Given the description of an element on the screen output the (x, y) to click on. 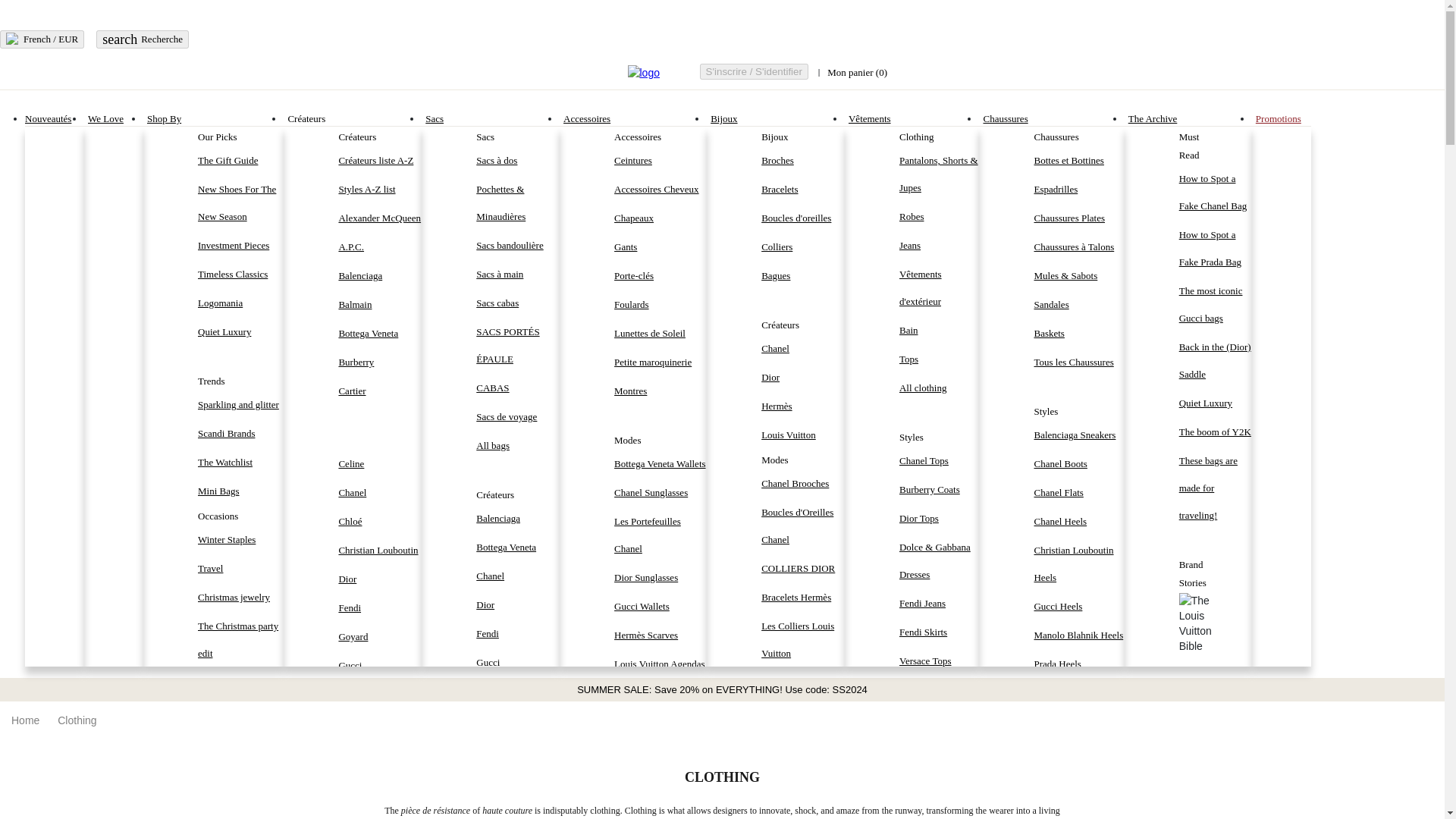
Christmas jewelry (240, 596)
Timeless Classics (240, 274)
Travel (240, 568)
We Love (105, 118)
The Gift Guide (240, 160)
Styles A-Z list (379, 189)
Sparkling and glitter (240, 404)
Burberry (379, 361)
A.P.C. (379, 247)
New Shoes For The New Season (240, 203)
Winter Staples (240, 539)
Investment Pieces (142, 39)
The Watchlist (240, 245)
Scandi Brands (240, 461)
